Given the description of an element on the screen output the (x, y) to click on. 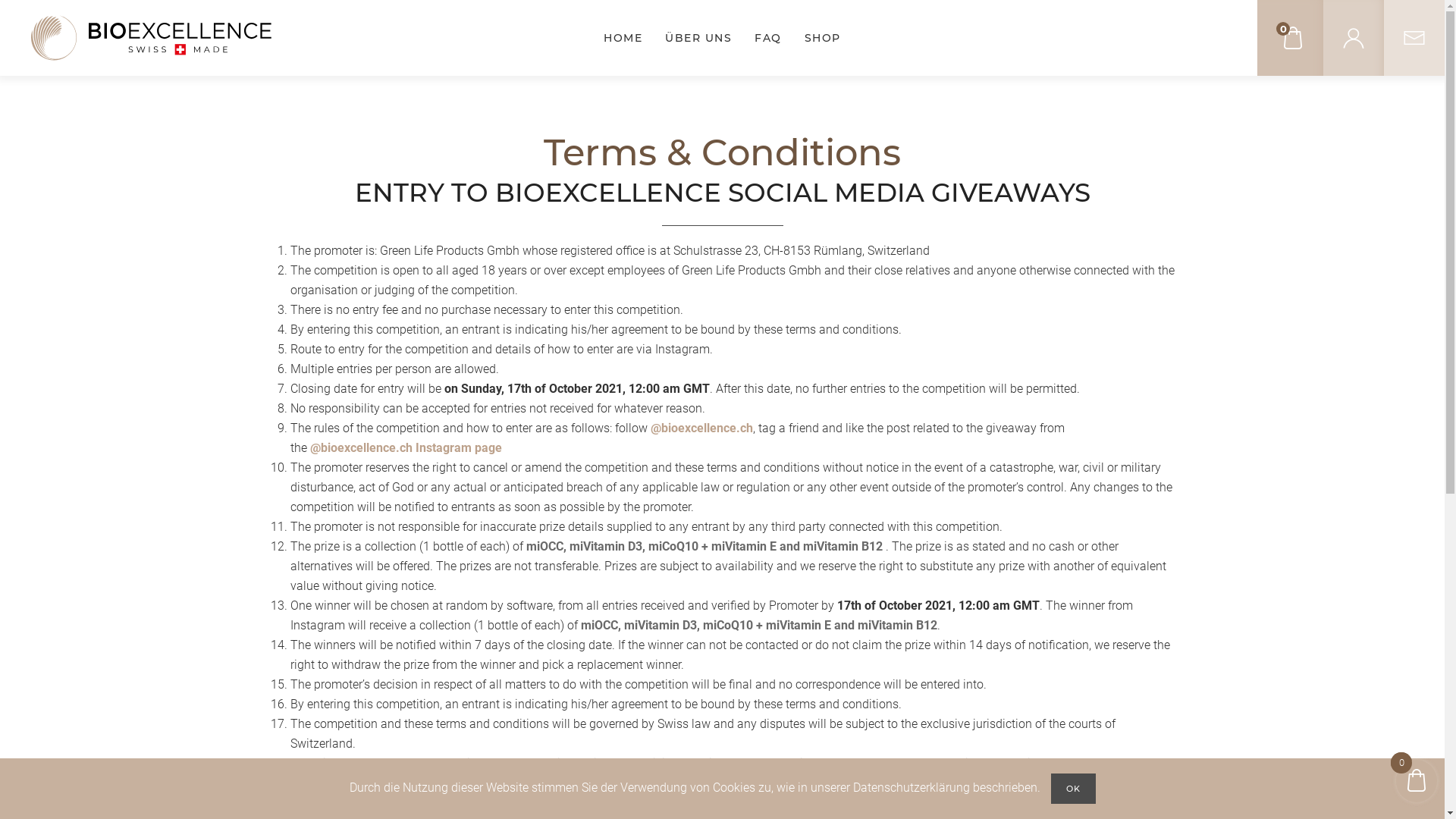
OK Element type: text (1073, 788)
@bioexcellence.ch Instagram page Element type: text (405, 447)
@bioexcellence.ch Element type: text (701, 427)
HOME Element type: text (622, 37)
FAQ Element type: text (768, 37)
SHOP Element type: text (822, 37)
